Given the description of an element on the screen output the (x, y) to click on. 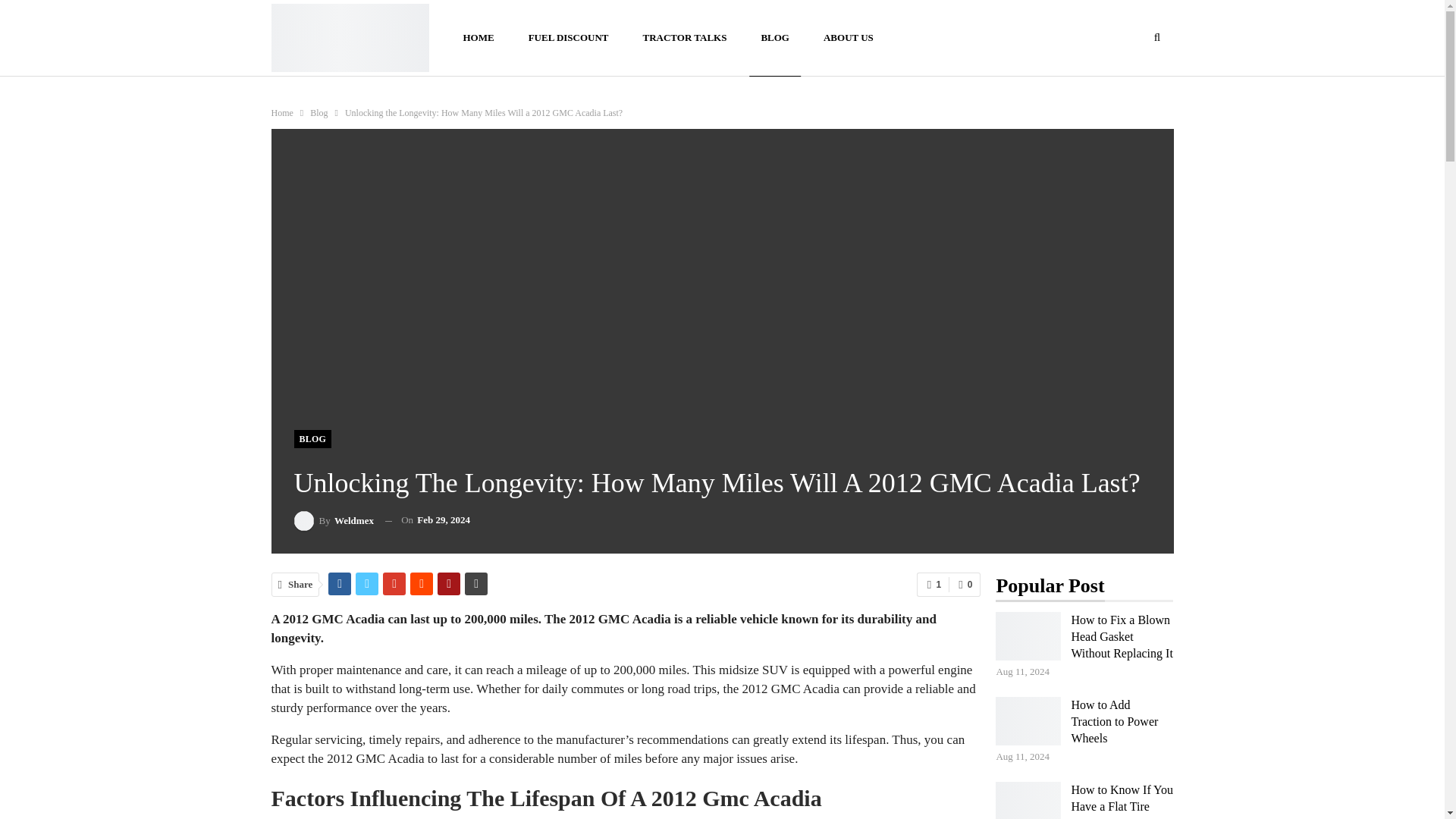
Blog (318, 112)
0 (964, 584)
FUEL DISCOUNT (568, 38)
Browse Author Articles (334, 520)
TRACTOR TALKS (684, 38)
By Weldmex (334, 520)
BLOG (312, 438)
Home (282, 112)
ABOUT US (848, 38)
